Given the description of an element on the screen output the (x, y) to click on. 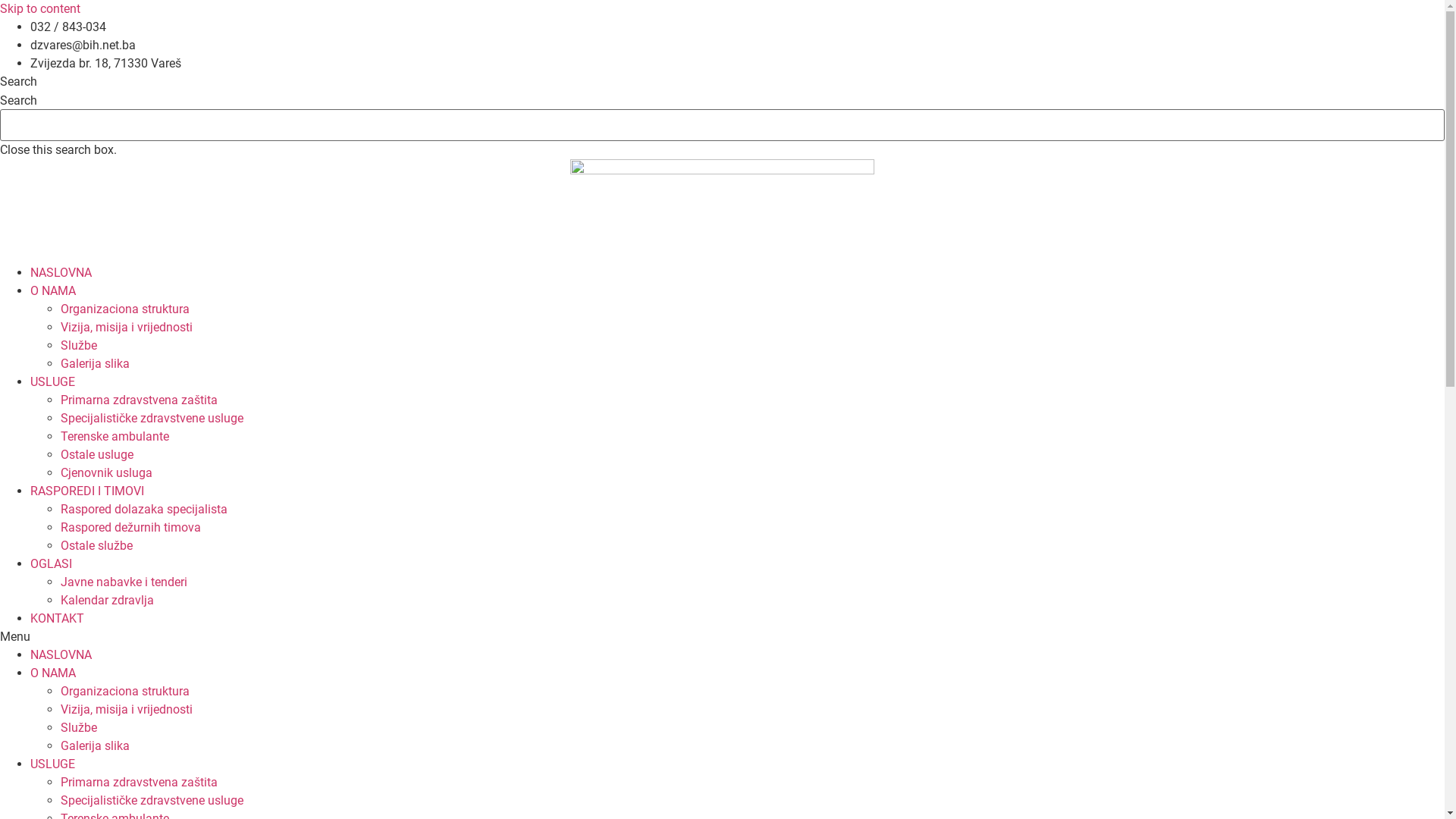
OGLASI Element type: text (51, 563)
Terenske ambulante Element type: text (114, 436)
Javne nabavke i tenderi Element type: text (123, 581)
O NAMA Element type: text (52, 290)
Organizaciona struktura Element type: text (124, 308)
Raspored dolazaka specijalista Element type: text (143, 509)
Cjenovnik usluga Element type: text (106, 472)
Galerija slika Element type: text (94, 745)
NASLOVNA Element type: text (60, 272)
Vizija, misija i vrijednosti Element type: text (126, 709)
USLUGE Element type: text (52, 763)
Galerija slika Element type: text (94, 363)
RASPOREDI I TIMOVI Element type: text (87, 490)
Ostale usluge Element type: text (96, 454)
Kalendar zdravlja Element type: text (106, 600)
USLUGE Element type: text (52, 381)
Organizaciona struktura Element type: text (124, 691)
O NAMA Element type: text (52, 672)
Vizija, misija i vrijednosti Element type: text (126, 327)
KONTAKT Element type: text (57, 618)
NASLOVNA Element type: text (60, 654)
Skip to content Element type: text (40, 8)
